Given the description of an element on the screen output the (x, y) to click on. 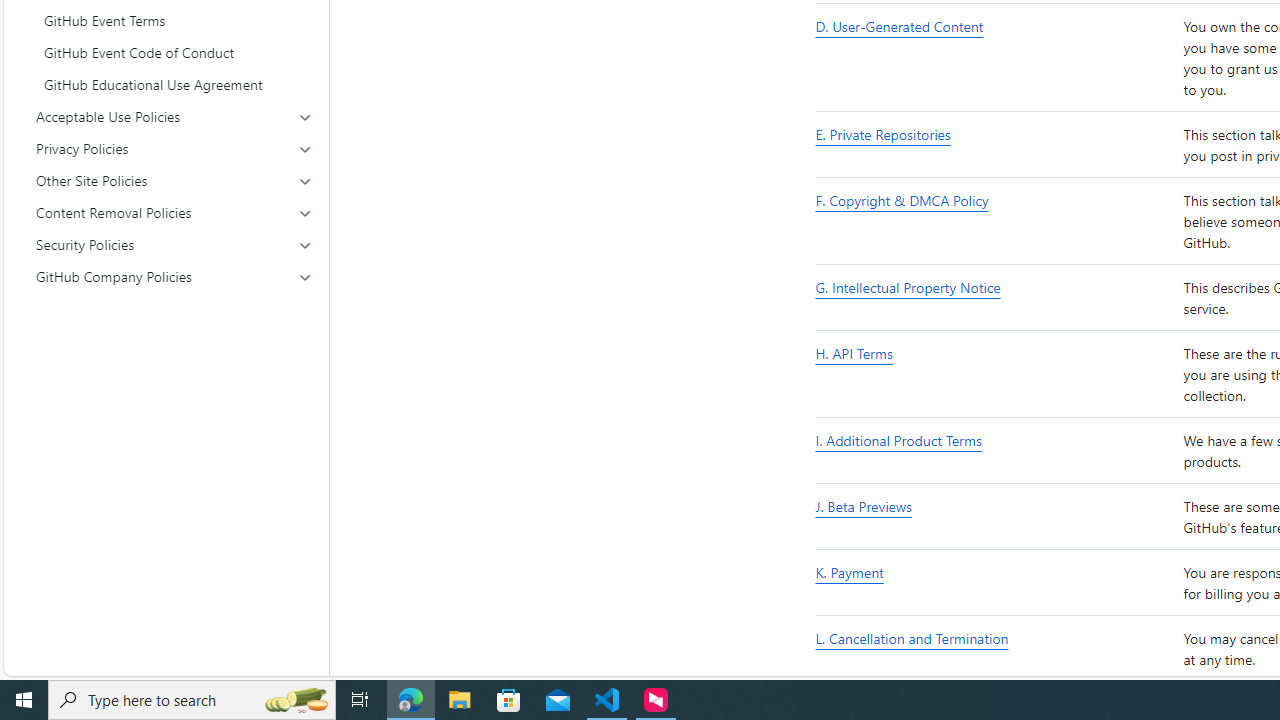
Other Site Policies (174, 180)
I. Additional Product Terms (995, 451)
Privacy Policies (174, 148)
D. User-Generated Content (899, 26)
F. Copyright & DMCA Policy (995, 221)
I. Additional Product Terms (898, 440)
E. Private Repositories (883, 134)
F. Copyright & DMCA Policy (902, 200)
H. API Terms (995, 375)
Security Policies (174, 244)
J. Beta Previews (863, 506)
GitHub Event Terms (174, 20)
Privacy Policies (174, 148)
L. Cancellation and Termination (911, 638)
GitHub Event Code of Conduct (174, 52)
